Given the description of an element on the screen output the (x, y) to click on. 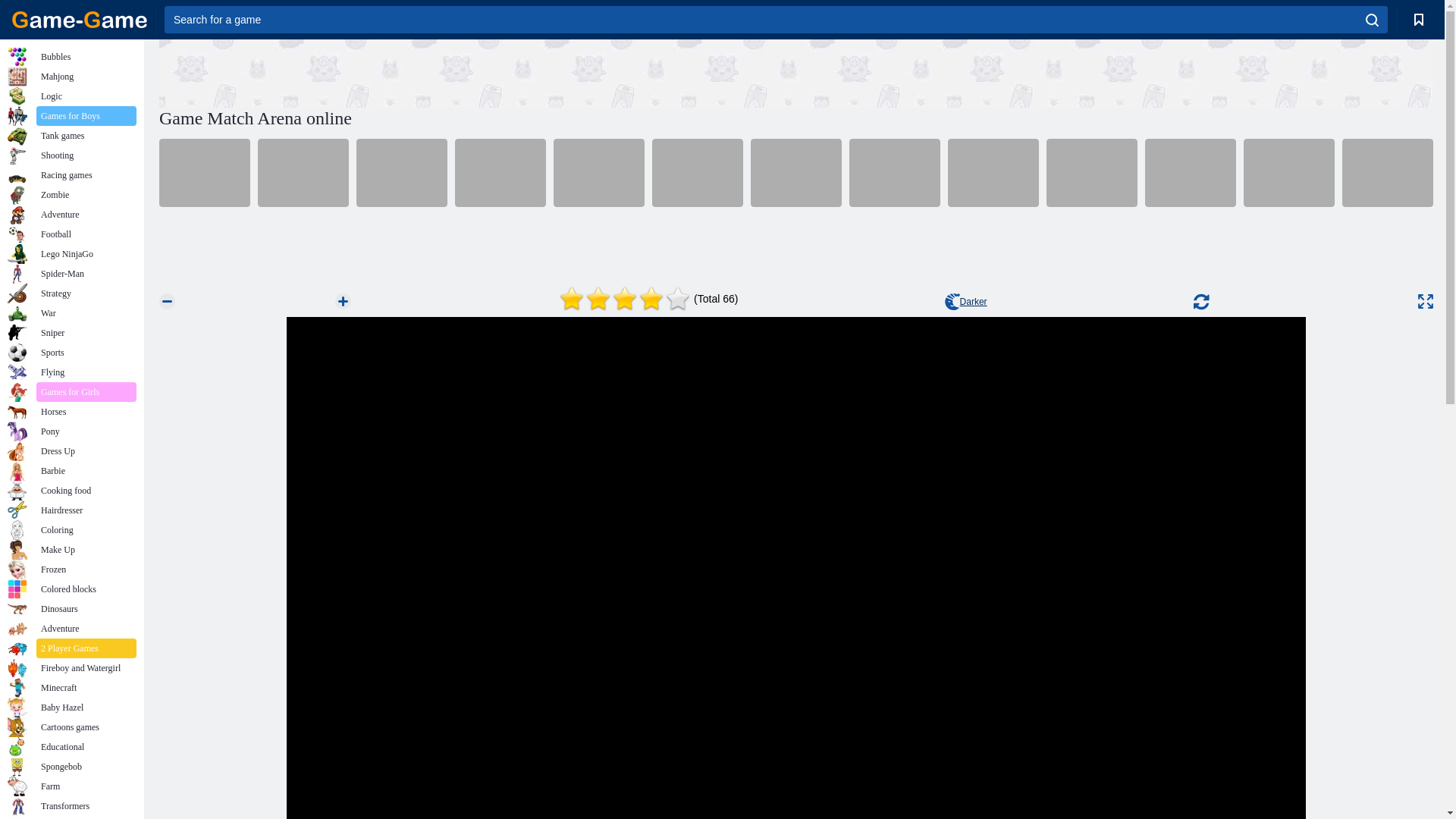
Game Endless Bubbles  online (303, 172)
Advertisement (795, 73)
Game Orange Ranch  online (500, 172)
Game Bouncing Balls online (204, 172)
Free Online Games (79, 19)
Game Bubble Shooter  online (894, 172)
Game Bubble Shooter Saga  online (401, 172)
Game Smarty Bubbles X-Mas Edition  online (796, 172)
Game Jewel Bubbles 3 online (697, 172)
Game Bubble Gemes online (599, 172)
